Given the description of an element on the screen output the (x, y) to click on. 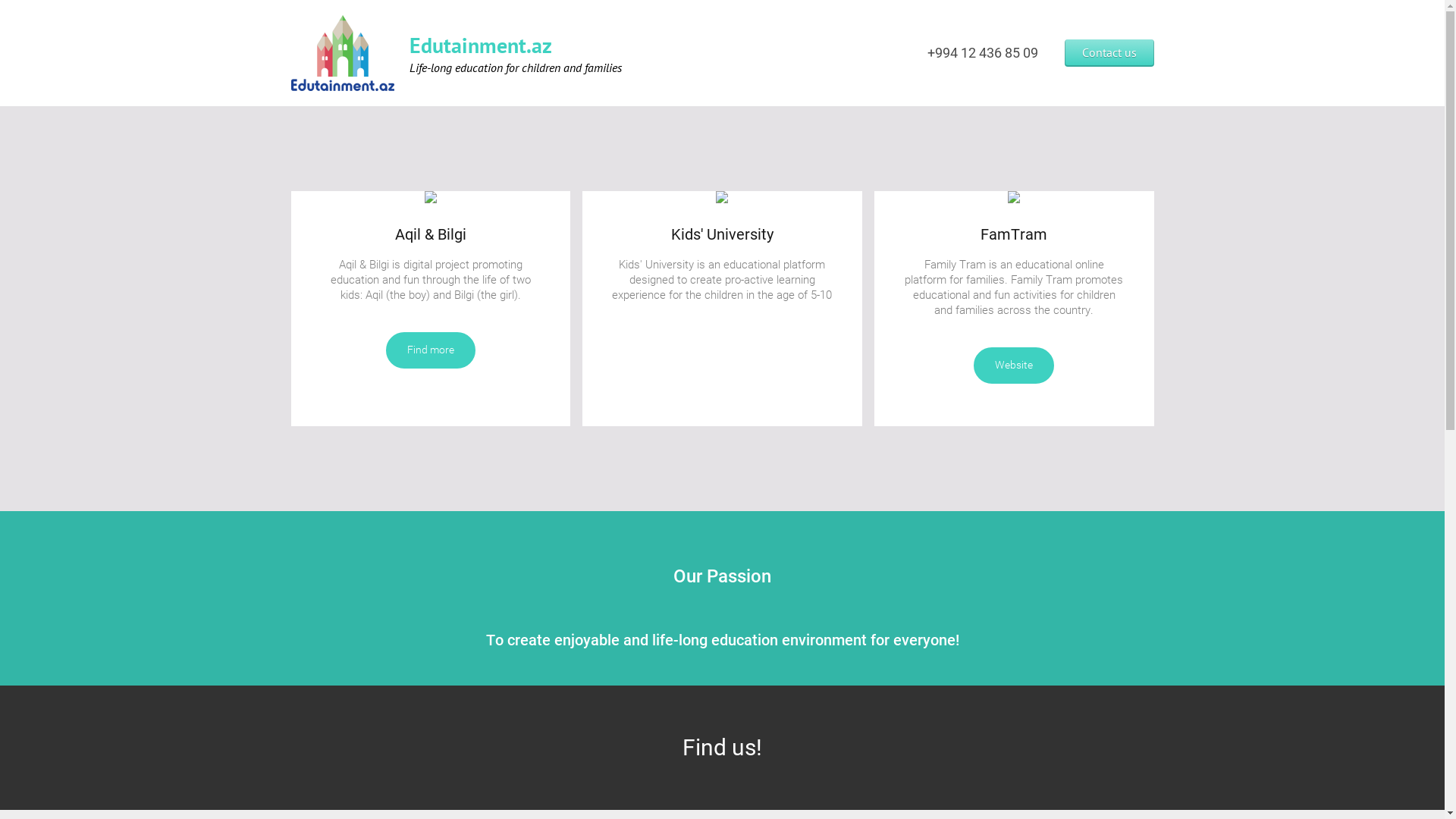
Edutainment.az Element type: hover (342, 53)
Website Element type: text (1013, 365)
+994 12 436 85 09 Element type: text (981, 52)
Find more Element type: text (430, 350)
Contact us Element type: text (1109, 52)
